Given the description of an element on the screen output the (x, y) to click on. 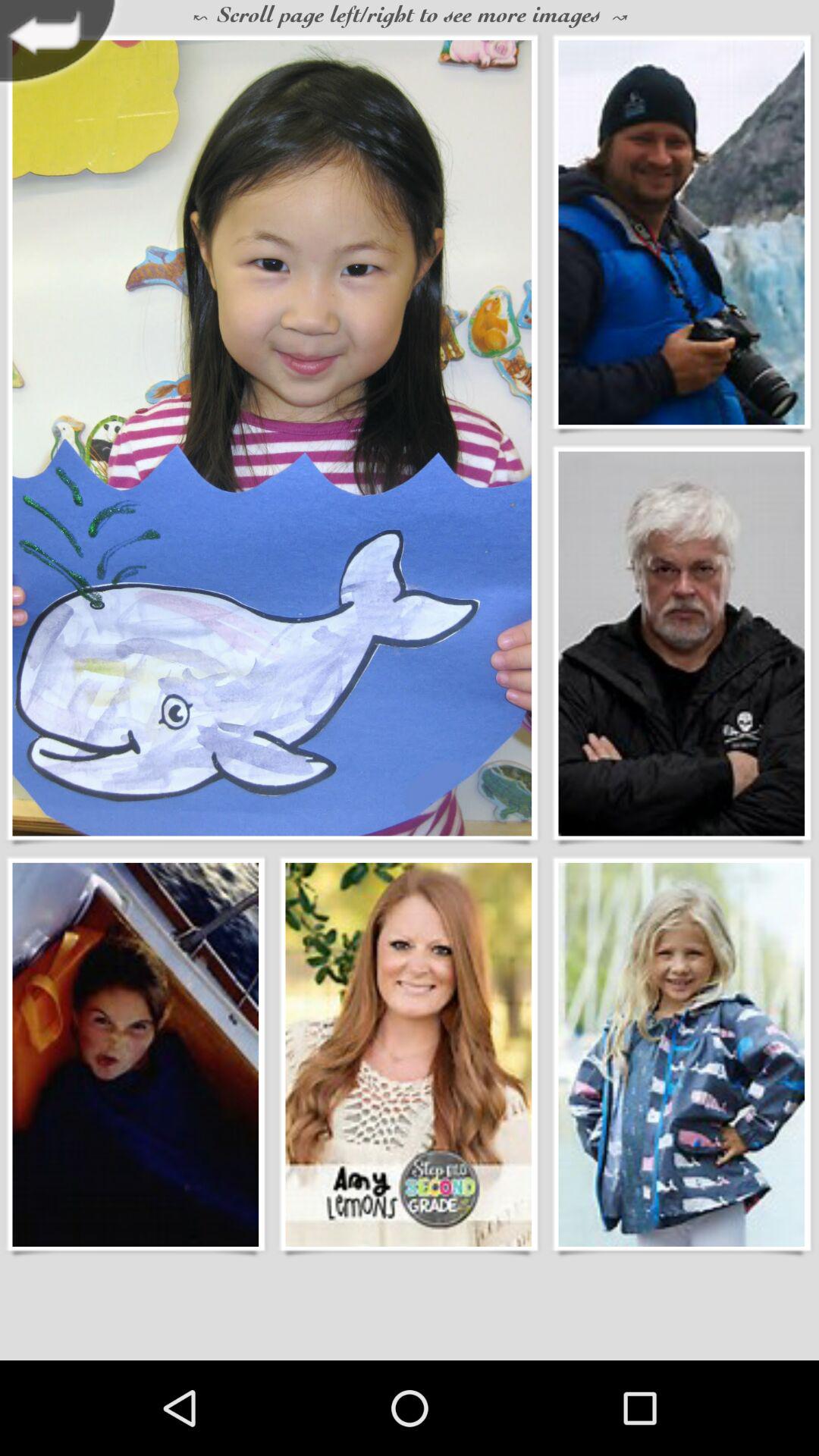
select wallpaper (135, 1054)
